Given the description of an element on the screen output the (x, y) to click on. 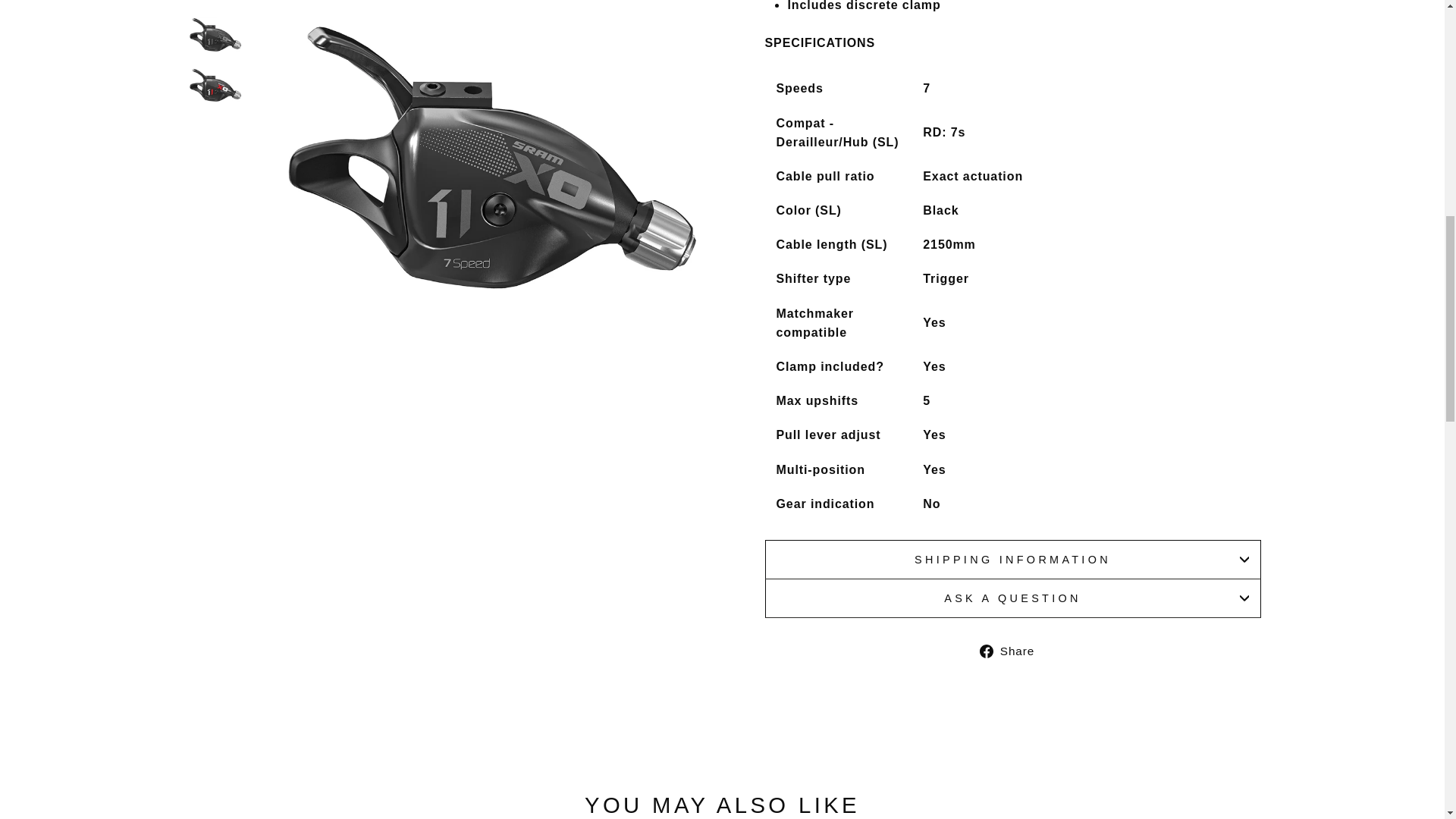
Share on Facebook (1012, 650)
